Given the description of an element on the screen output the (x, y) to click on. 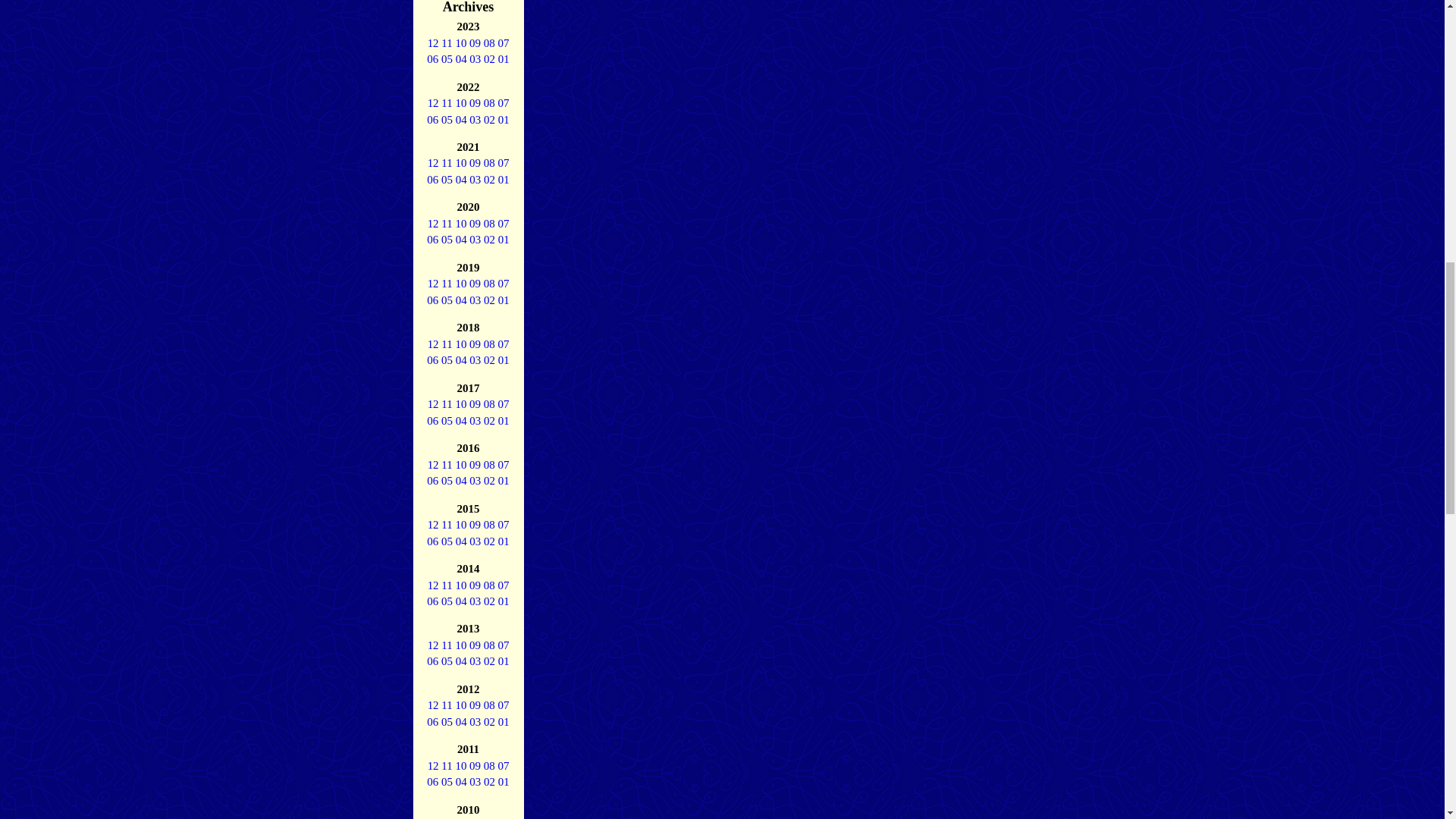
03 (474, 59)
12 (433, 102)
08 (489, 42)
07 (502, 42)
02 (489, 59)
09 (474, 102)
06 (432, 59)
04 (461, 59)
05 (446, 59)
09 (474, 42)
